Given the description of an element on the screen output the (x, y) to click on. 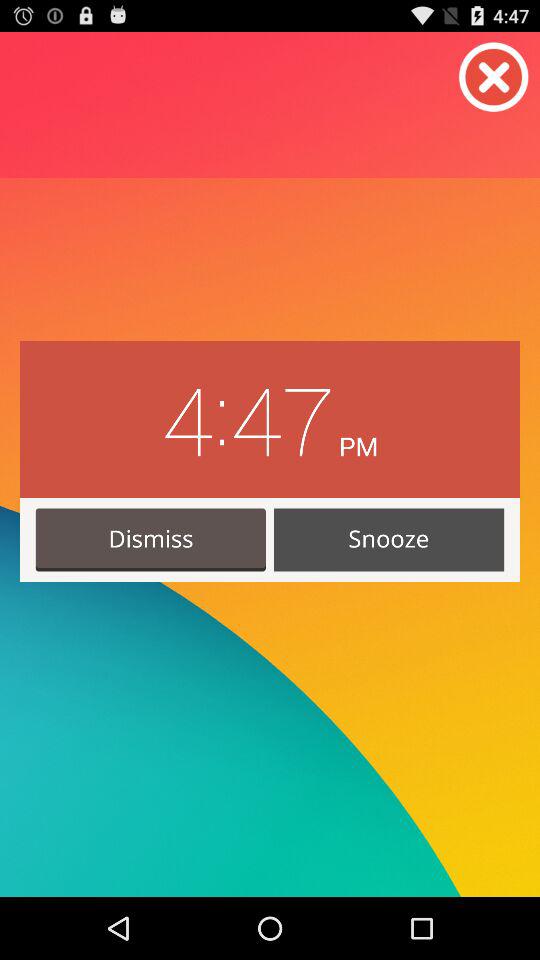
alarm displyer (493, 77)
